Given the description of an element on the screen output the (x, y) to click on. 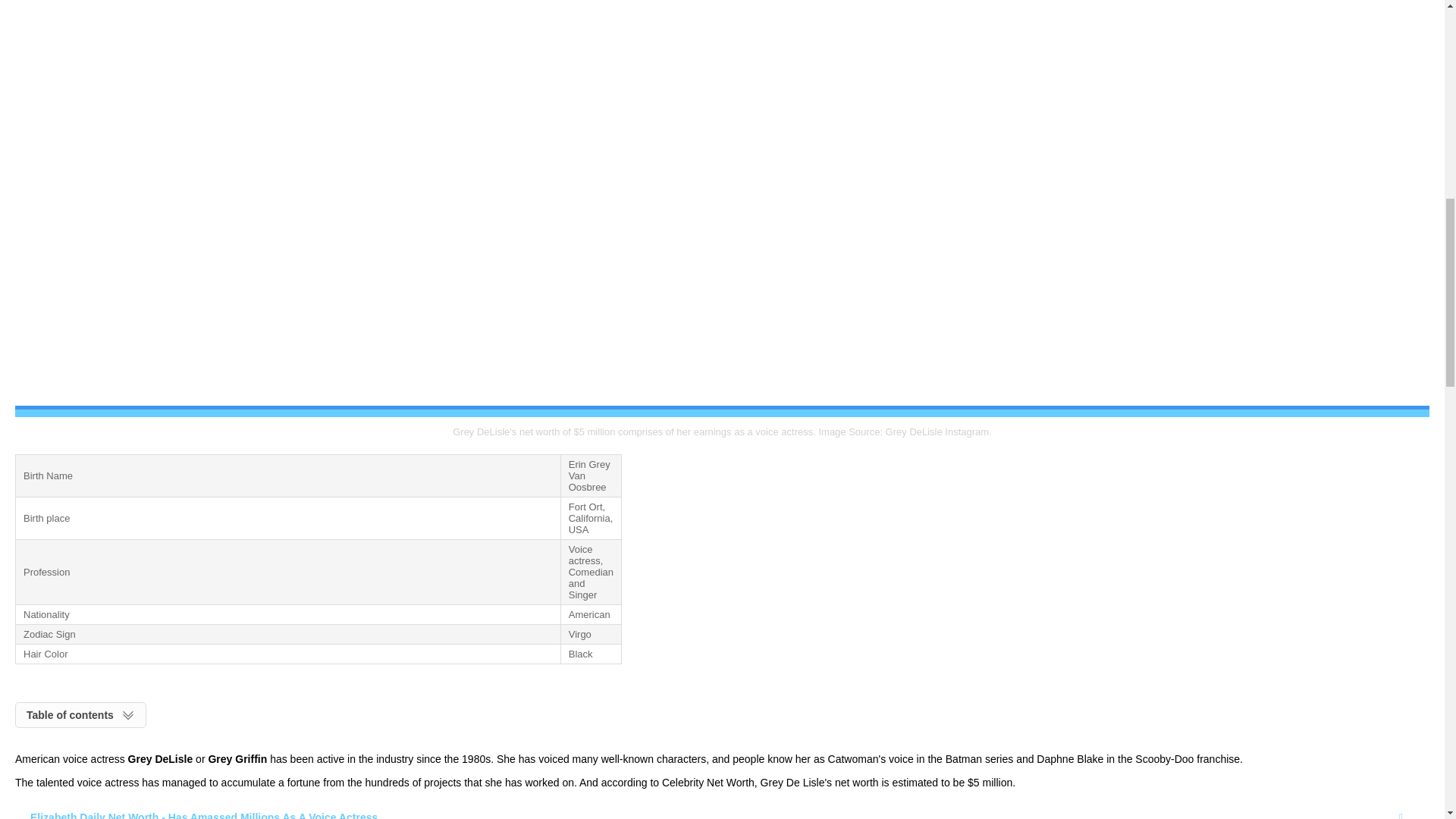
Table of contents (80, 714)
